Given the description of an element on the screen output the (x, y) to click on. 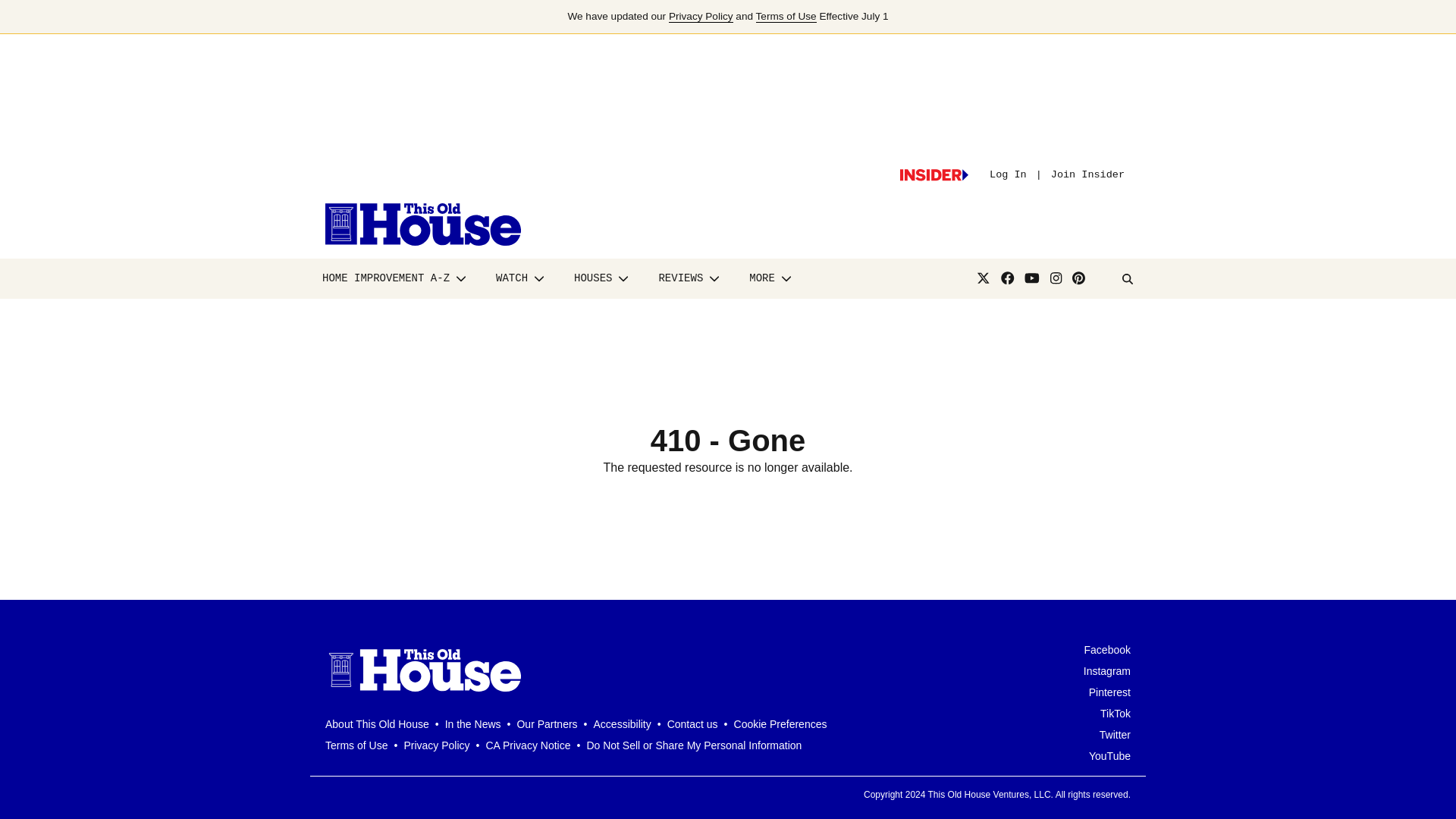
Log in or sign up (933, 174)
Privacy Policy (700, 16)
Log In (1008, 174)
Terms of Use (785, 16)
Join Insider (1087, 174)
